Given the description of an element on the screen output the (x, y) to click on. 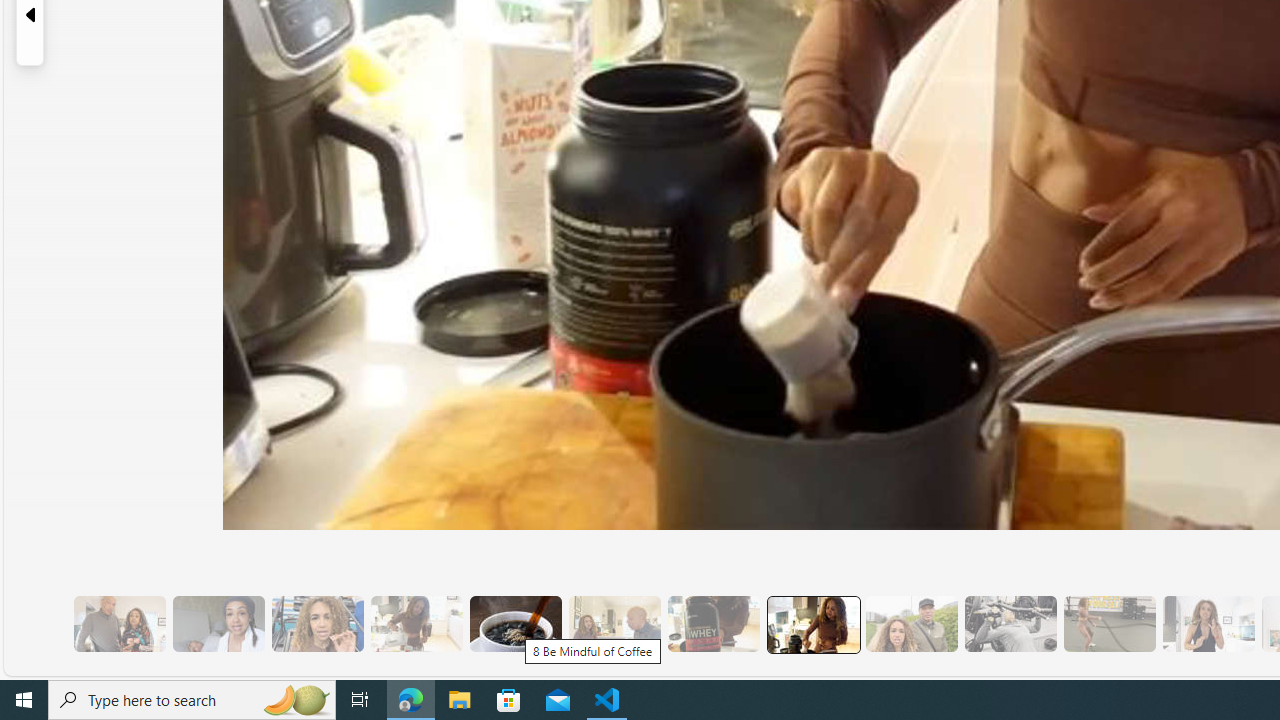
2 They Use Protein Powder for Flavor (317, 624)
8 Be Mindful of Coffee (514, 624)
8 They Walk to the Gym (911, 624)
7 They Don't Skip Meals (813, 624)
3 They Drink Lemon Tea (416, 624)
5 She Eats Less Than Her Husband (614, 624)
2 They Use Protein Powder for Flavor (317, 624)
9 They Do Bench Exercises (1010, 624)
6 Since Eating More Protein Her Training Has Improved (713, 624)
5 She Eats Less Than Her Husband (614, 624)
6 Since Eating More Protein Her Training Has Improved (713, 624)
8 They Walk to the Gym (911, 624)
See more (1086, 660)
